Given the description of an element on the screen output the (x, y) to click on. 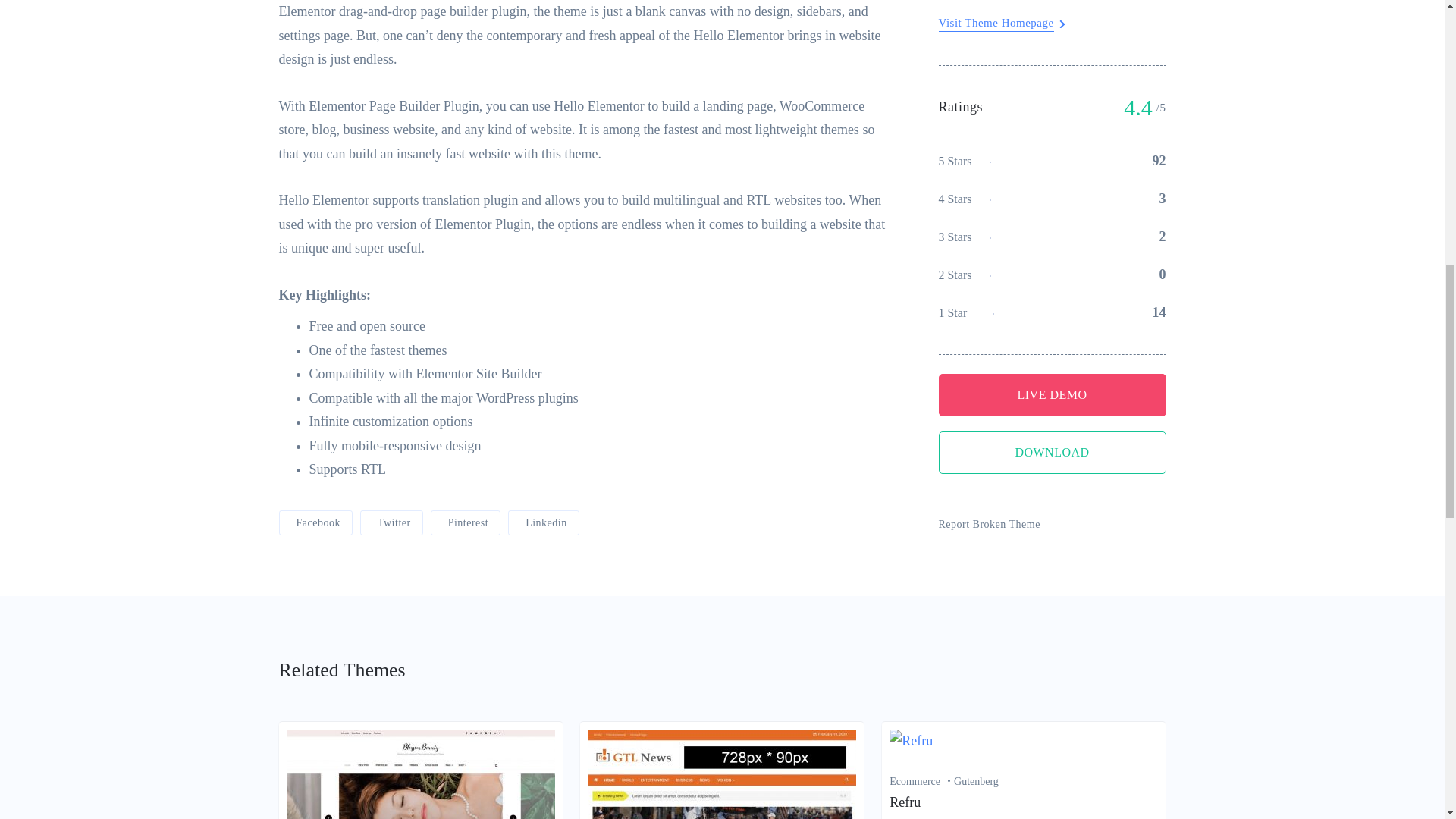
LIVE DEMO (1052, 24)
Report Broken Theme (990, 155)
facebook (315, 522)
pinterest (465, 522)
DOWNLOAD (1052, 82)
twitter (391, 522)
linkedin (543, 522)
Ecommerce (921, 781)
